Given the description of an element on the screen output the (x, y) to click on. 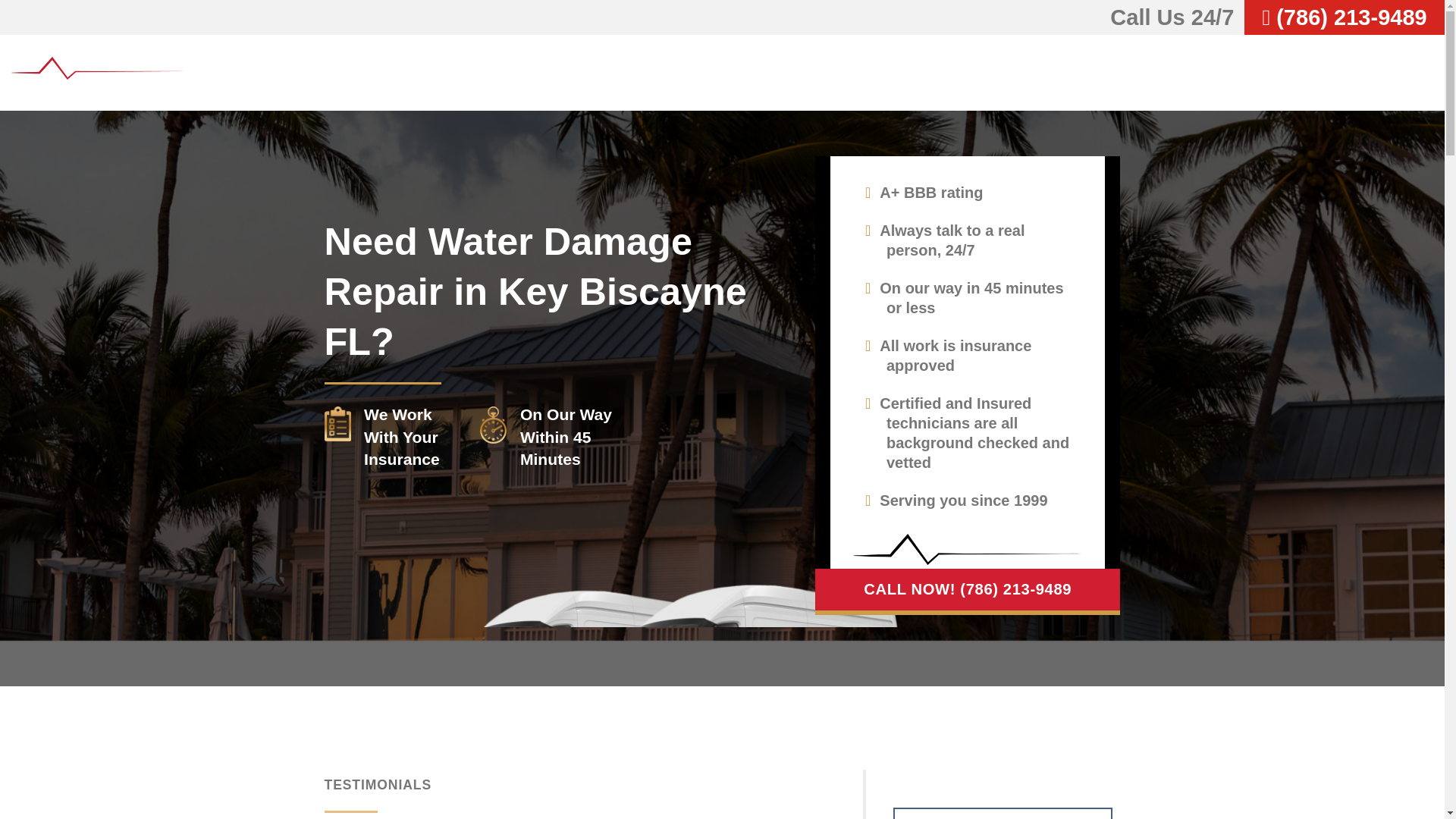
About (1096, 72)
Testimonials (1280, 72)
EMERGENCY SERVICES (1003, 813)
Contact (1401, 72)
Services (1178, 72)
Restoration Doctor FL (98, 73)
